Given the description of an element on the screen output the (x, y) to click on. 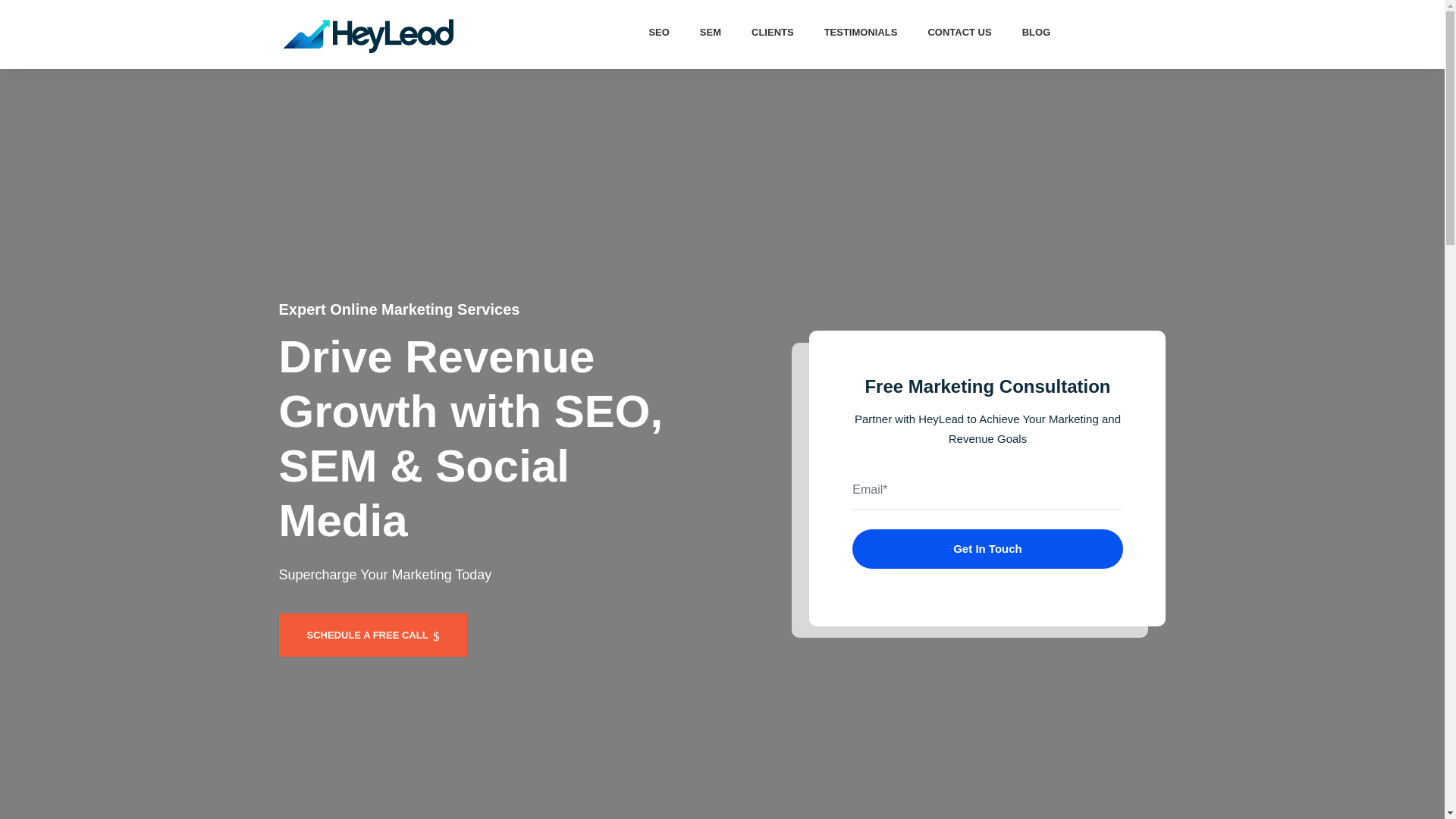
SCHEDULE A FREE CALL (373, 634)
BLOG (1036, 32)
SEM (710, 32)
CLIENTS (772, 32)
Get In Touch (986, 548)
CONTACT US (959, 32)
TESTIMONIALS (860, 32)
SEO (658, 32)
